Given the description of an element on the screen output the (x, y) to click on. 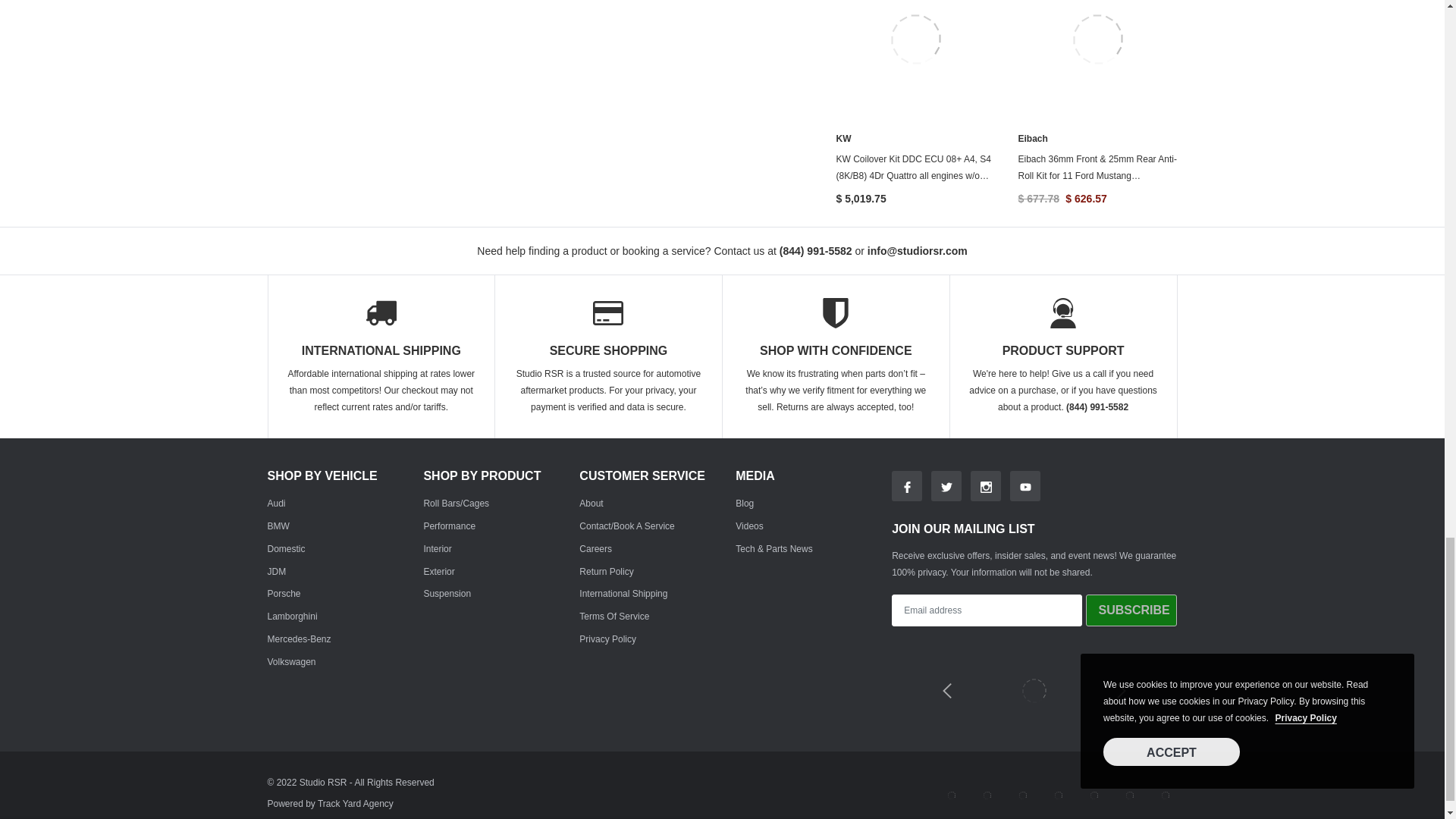
Eibach (1031, 138)
Twitter (945, 485)
KW (842, 138)
Subscribe (1131, 610)
YouTube (1025, 485)
Instagram (986, 485)
Facebook (906, 485)
